Given the description of an element on the screen output the (x, y) to click on. 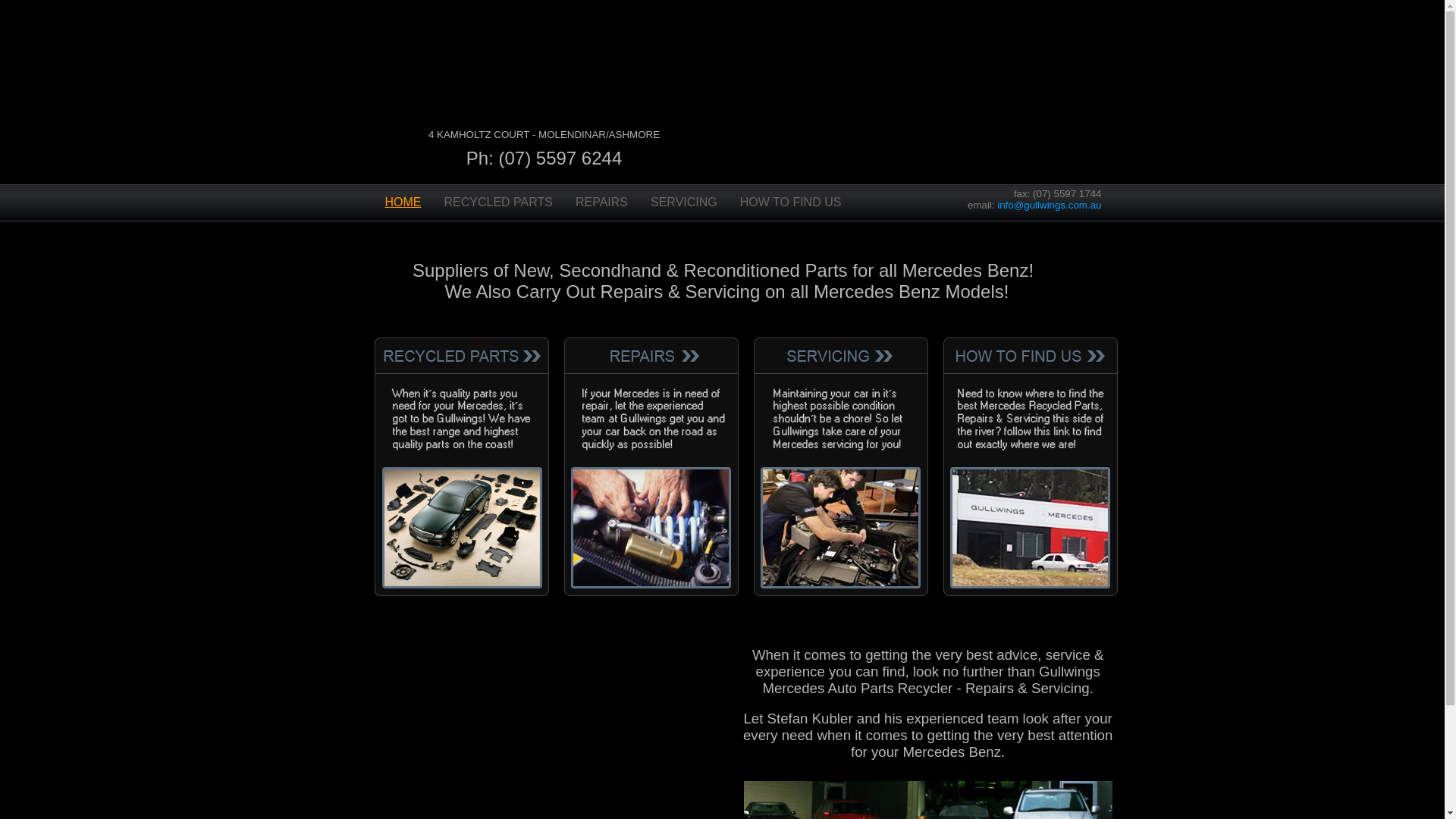
REPAIRS Element type: text (601, 203)
HOW TO FIND US Element type: text (790, 203)
RECYCLED PARTS Element type: text (497, 203)
SERVICING Element type: text (683, 203)
info@gullwings.com.au Element type: text (1049, 204)
HOME Element type: text (402, 203)
